Given the description of an element on the screen output the (x, y) to click on. 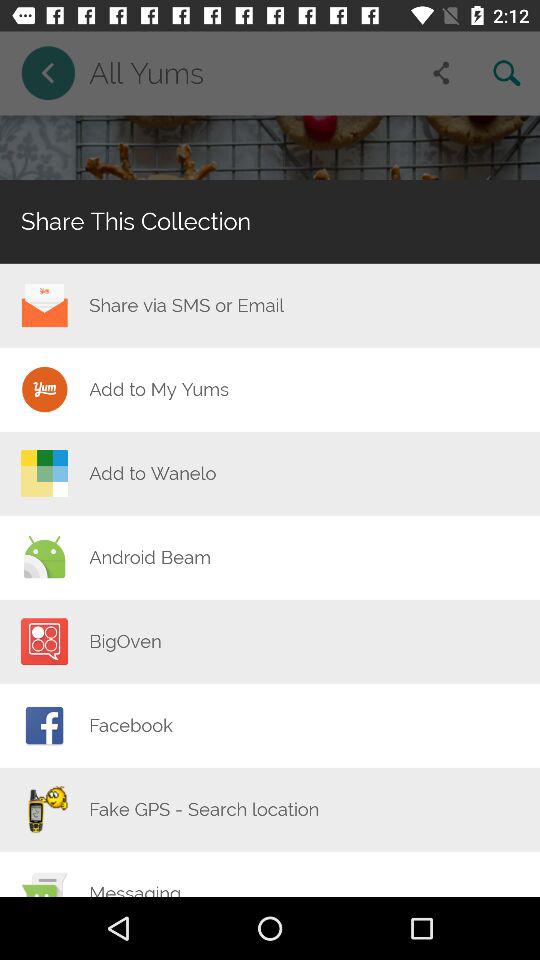
press item below facebook (204, 809)
